Given the description of an element on the screen output the (x, y) to click on. 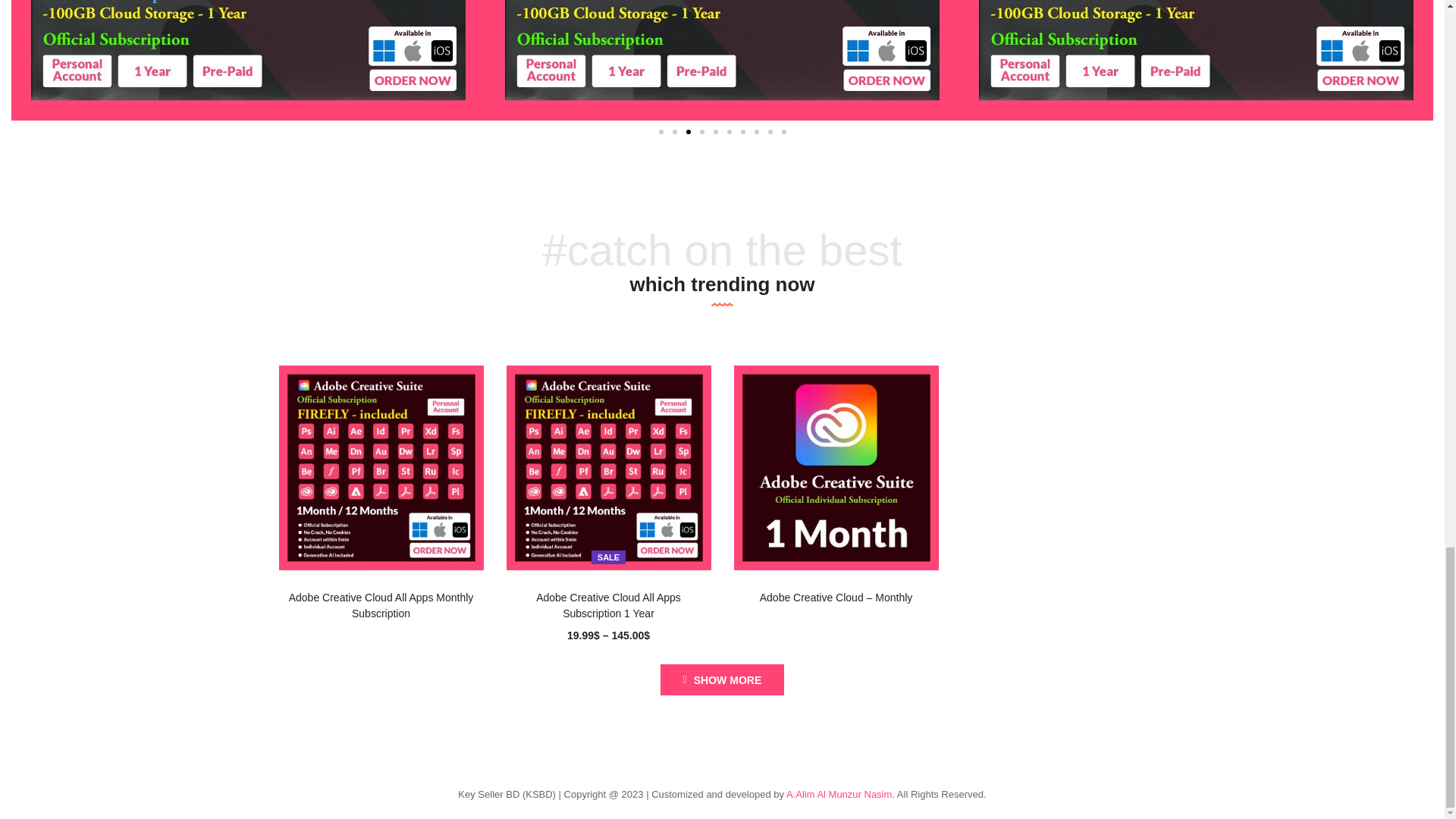
Adobe Creative Cloud All Apps Subscription 1 Year (608, 467)
Adobe Creative Cloud All Apps Monthly Subscription (381, 467)
Adobe Creative Cloud All Apps Monthly Subscription (381, 605)
